Given the description of an element on the screen output the (x, y) to click on. 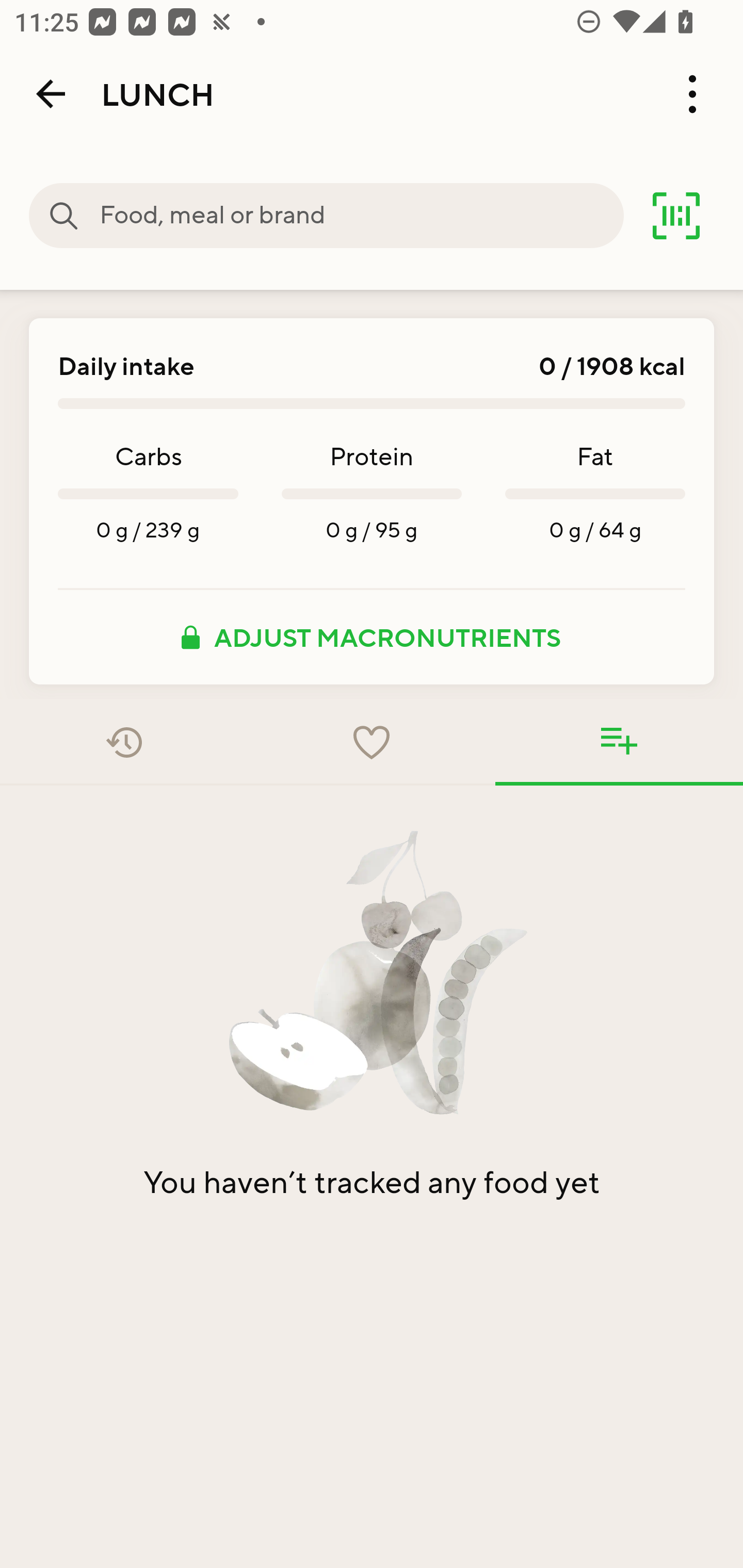
Back (50, 93)
Food, meal or brand (63, 215)
Food, meal or brand (361, 215)
ADJUST MACRONUTRIENTS (371, 637)
Recent (123, 742)
Favorites (371, 742)
